Given the description of an element on the screen output the (x, y) to click on. 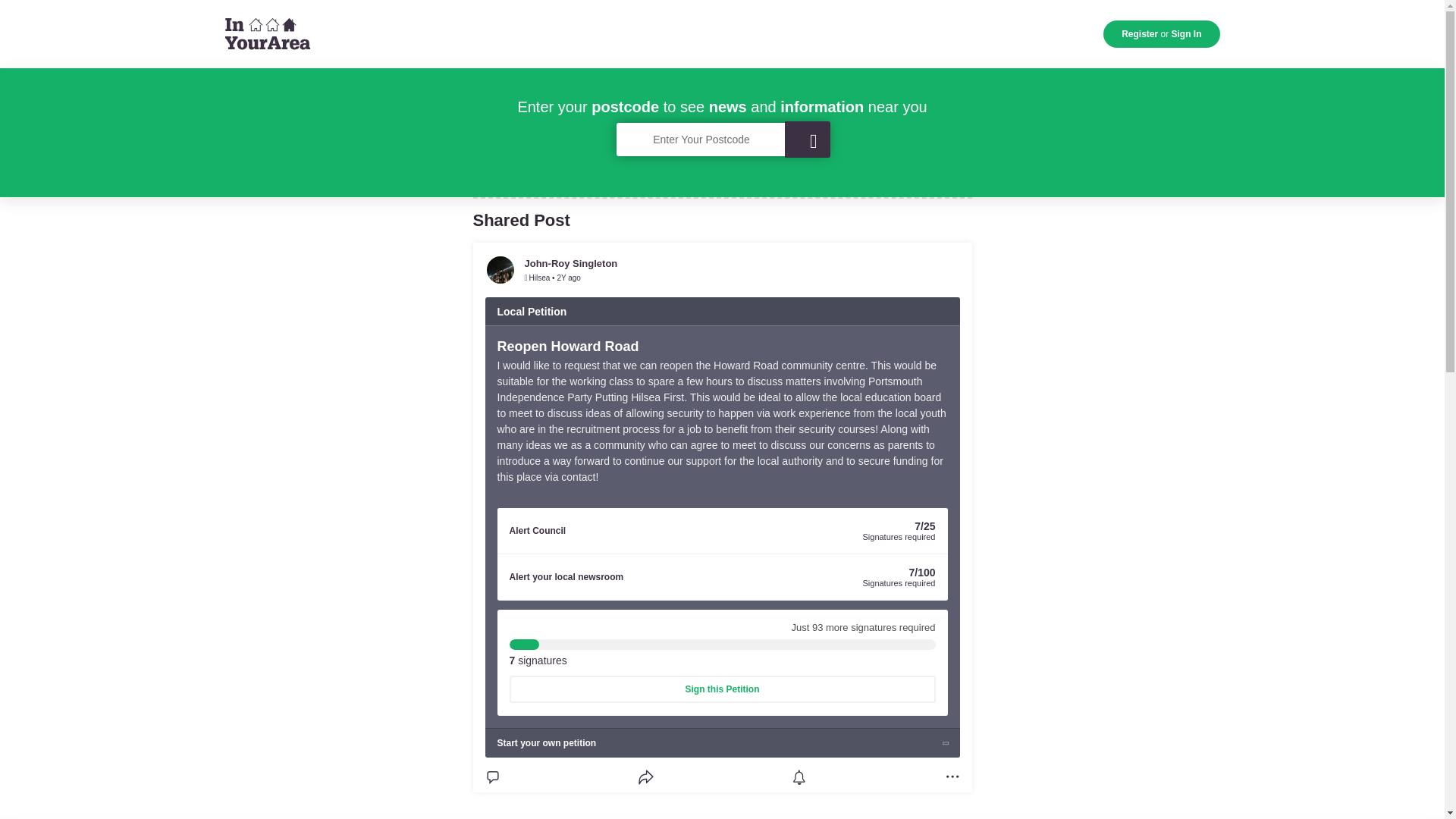
Register or Sign In (1161, 33)
Start your own petition (721, 742)
Sign this Petition (722, 688)
